Given the description of an element on the screen output the (x, y) to click on. 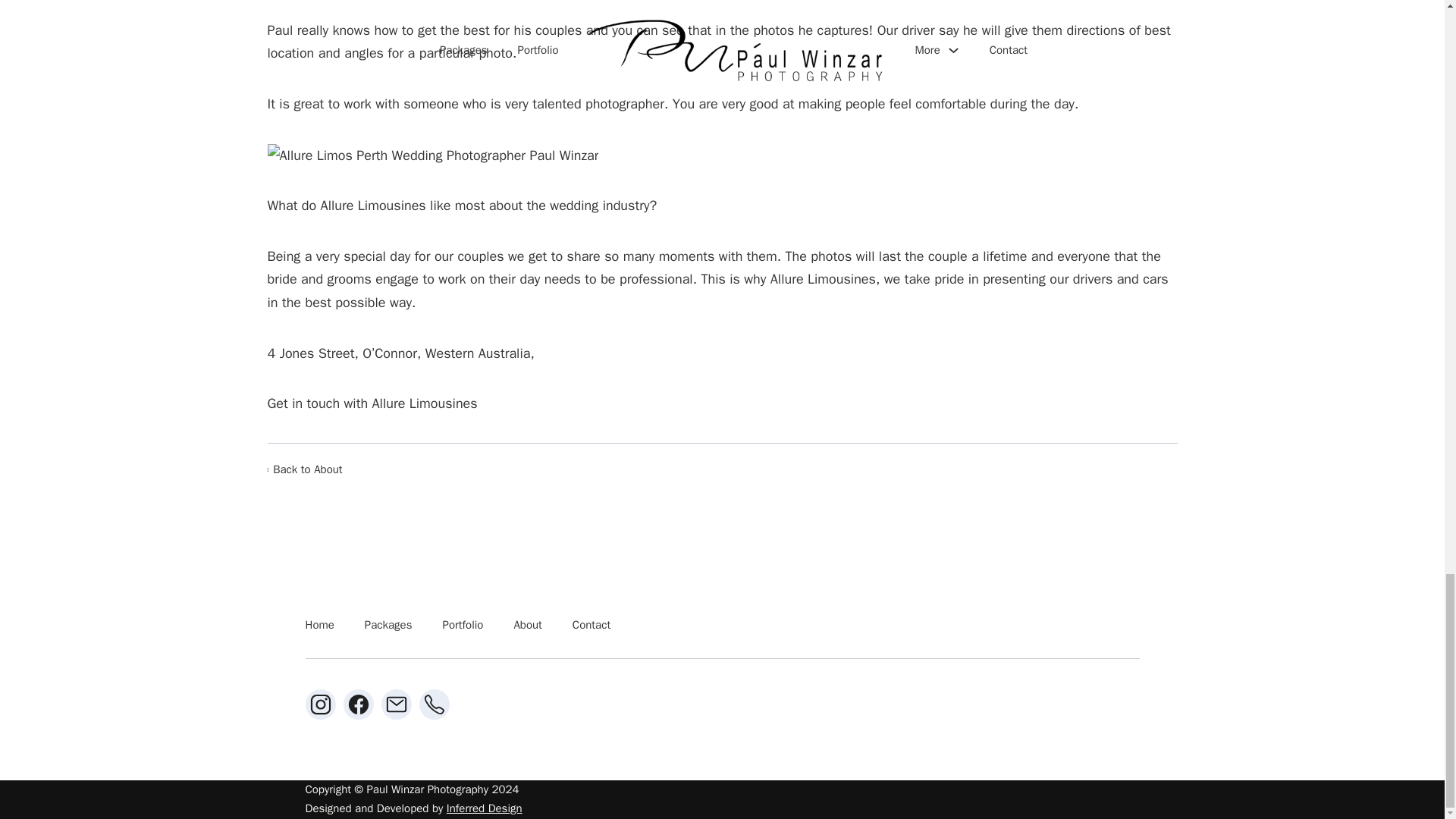
Contact (591, 625)
Packages (388, 625)
Get in touch with Allure Limousines (371, 402)
Home (318, 625)
Back (304, 469)
Instagram (319, 704)
About (527, 625)
Inferred Design (484, 807)
Facebook (357, 704)
Portfolio (462, 625)
